Given the description of an element on the screen output the (x, y) to click on. 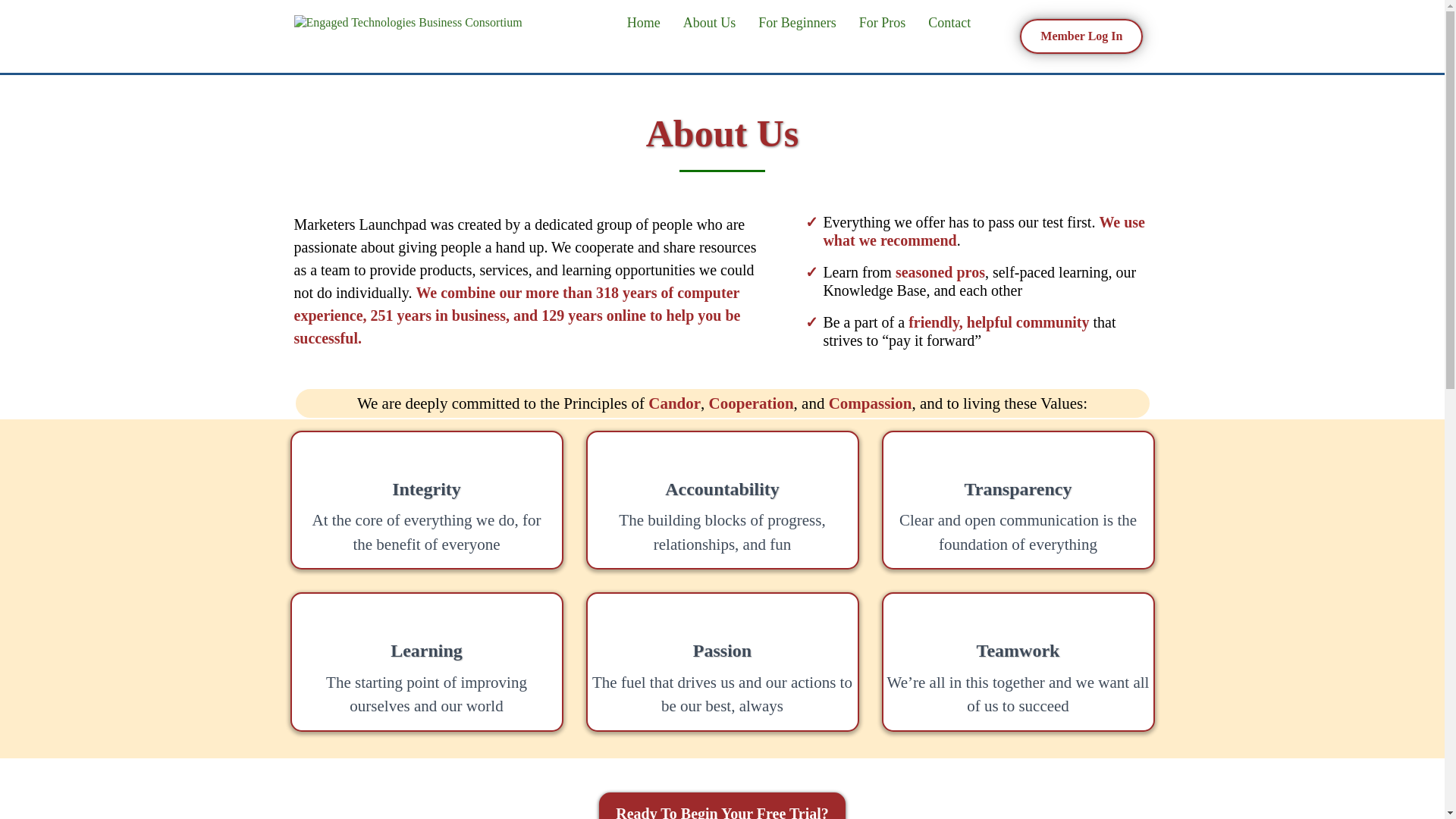
For Pros (882, 23)
Contact (949, 23)
Home (643, 23)
For Beginners (796, 23)
Member Log In (1081, 36)
About Us (709, 23)
